Given the description of an element on the screen output the (x, y) to click on. 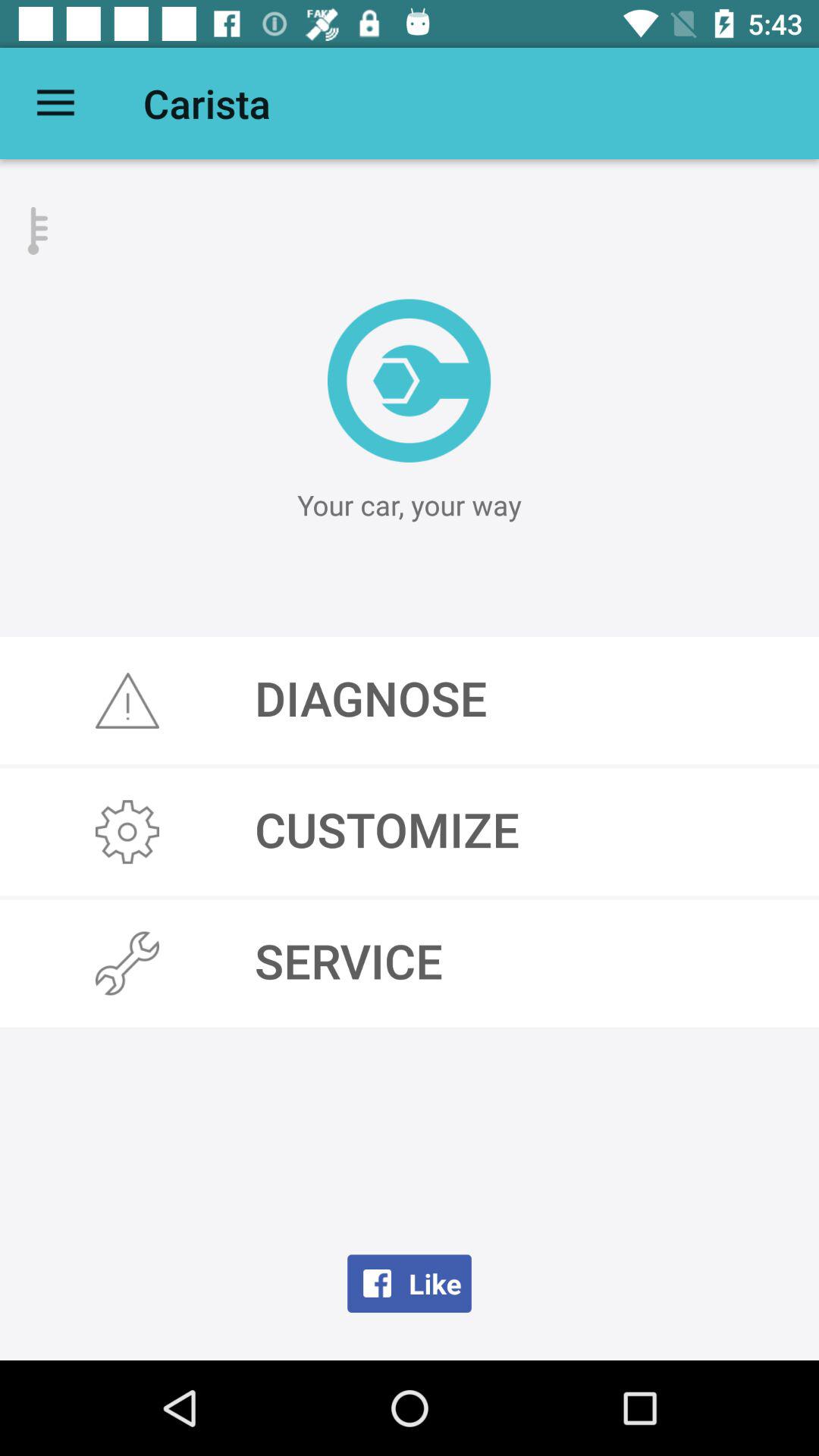
open the like icon (409, 1283)
